Given the description of an element on the screen output the (x, y) to click on. 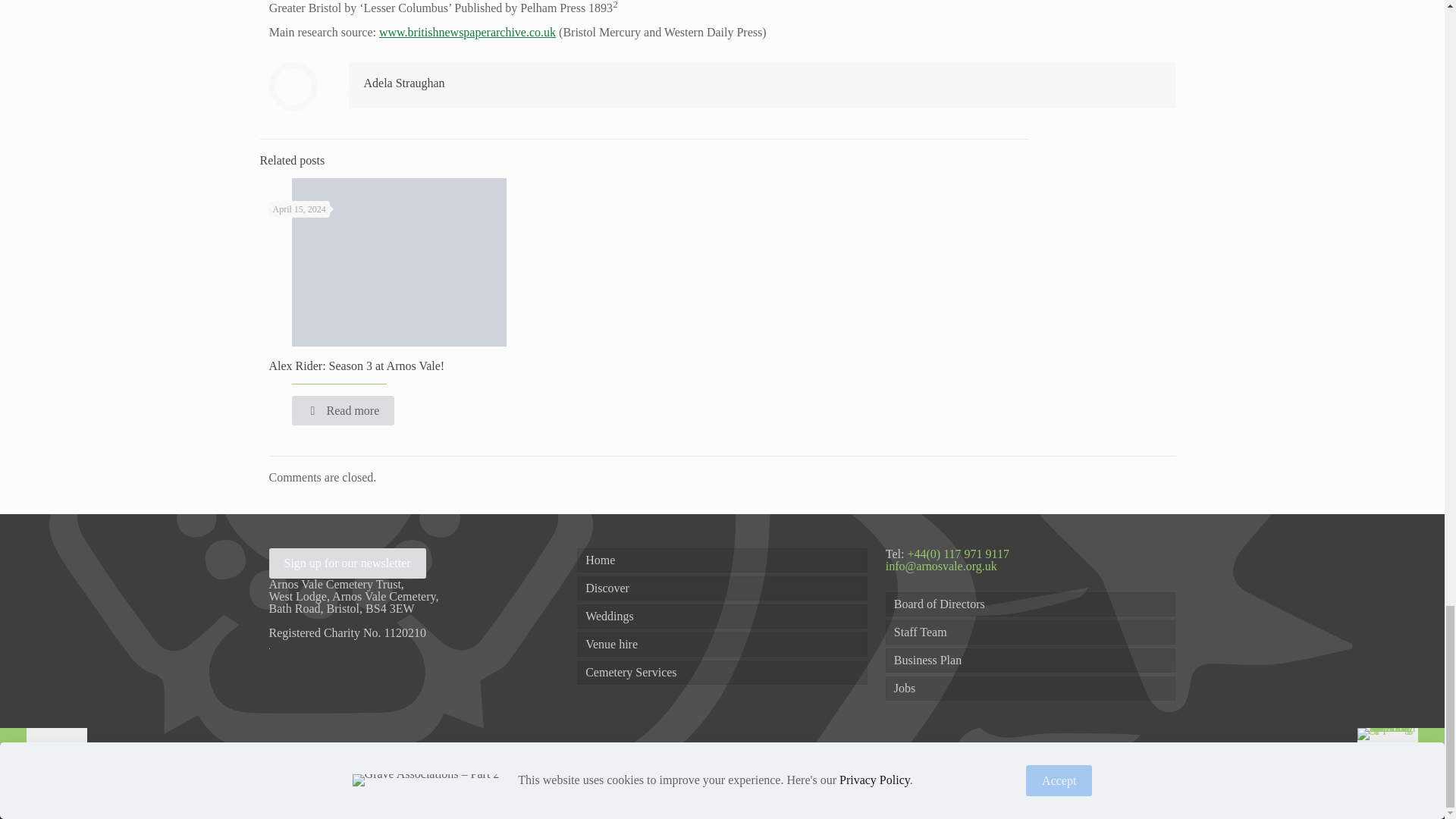
LinkedIn (1126, 779)
Facebook (1094, 779)
Instagram (1142, 779)
